Given the description of an element on the screen output the (x, y) to click on. 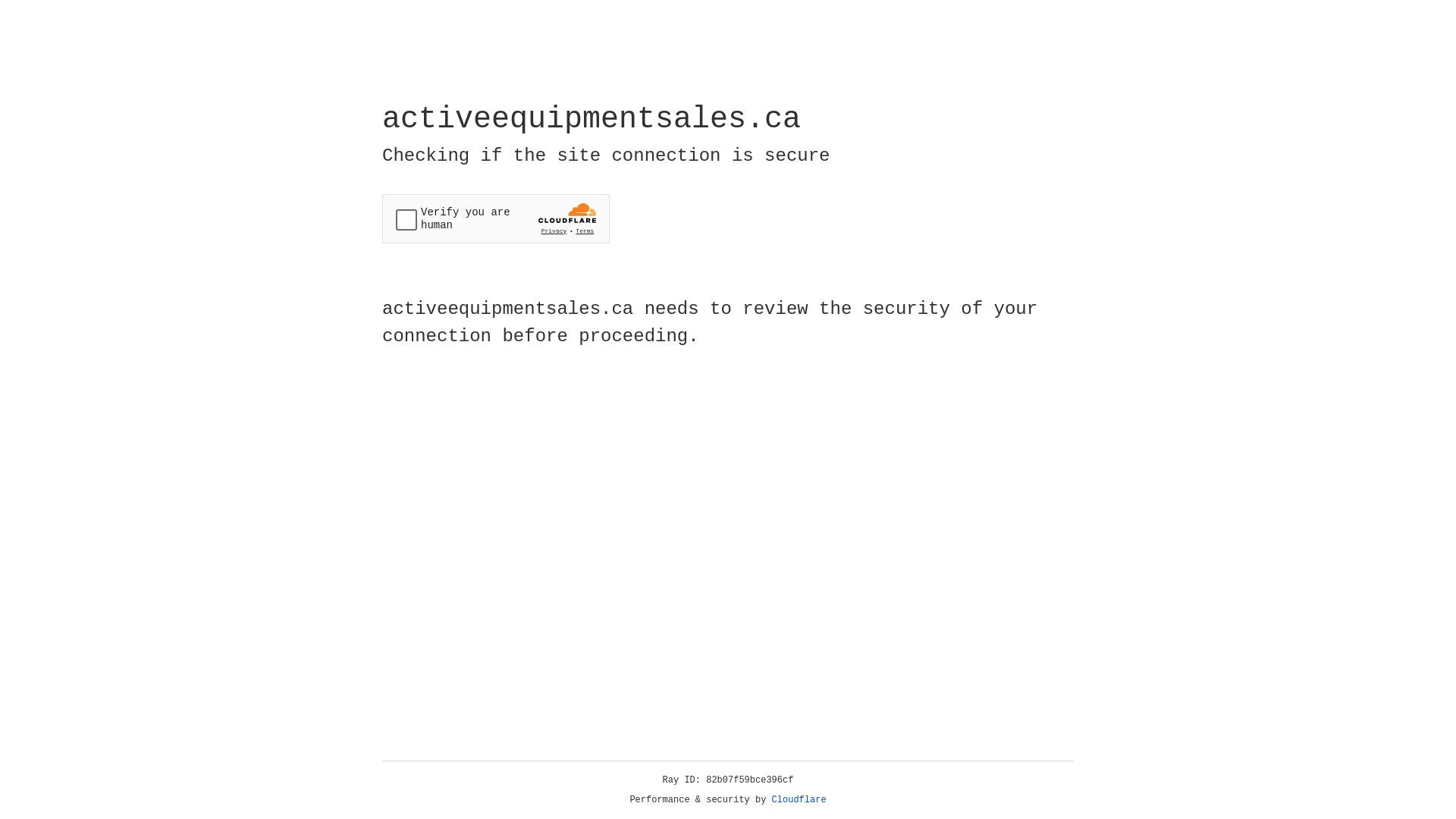
Widget containing a Cloudflare security challenge Element type: hover (495, 218)
Cloudflare Element type: text (798, 799)
